Given the description of an element on the screen output the (x, y) to click on. 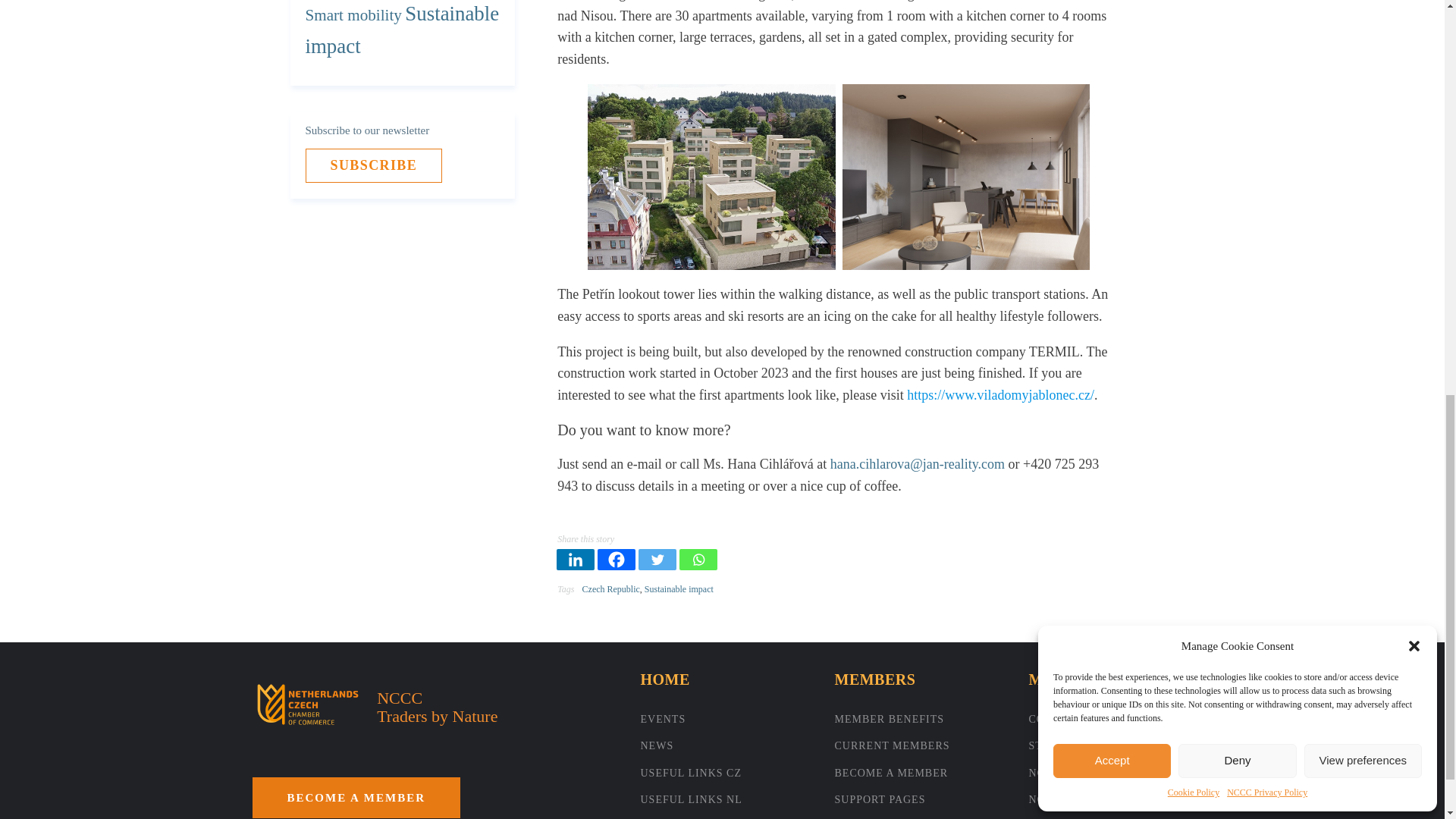
Twitter (658, 559)
Linkedin (575, 559)
Facebook (615, 559)
Whatsapp (698, 559)
